Given the description of an element on the screen output the (x, y) to click on. 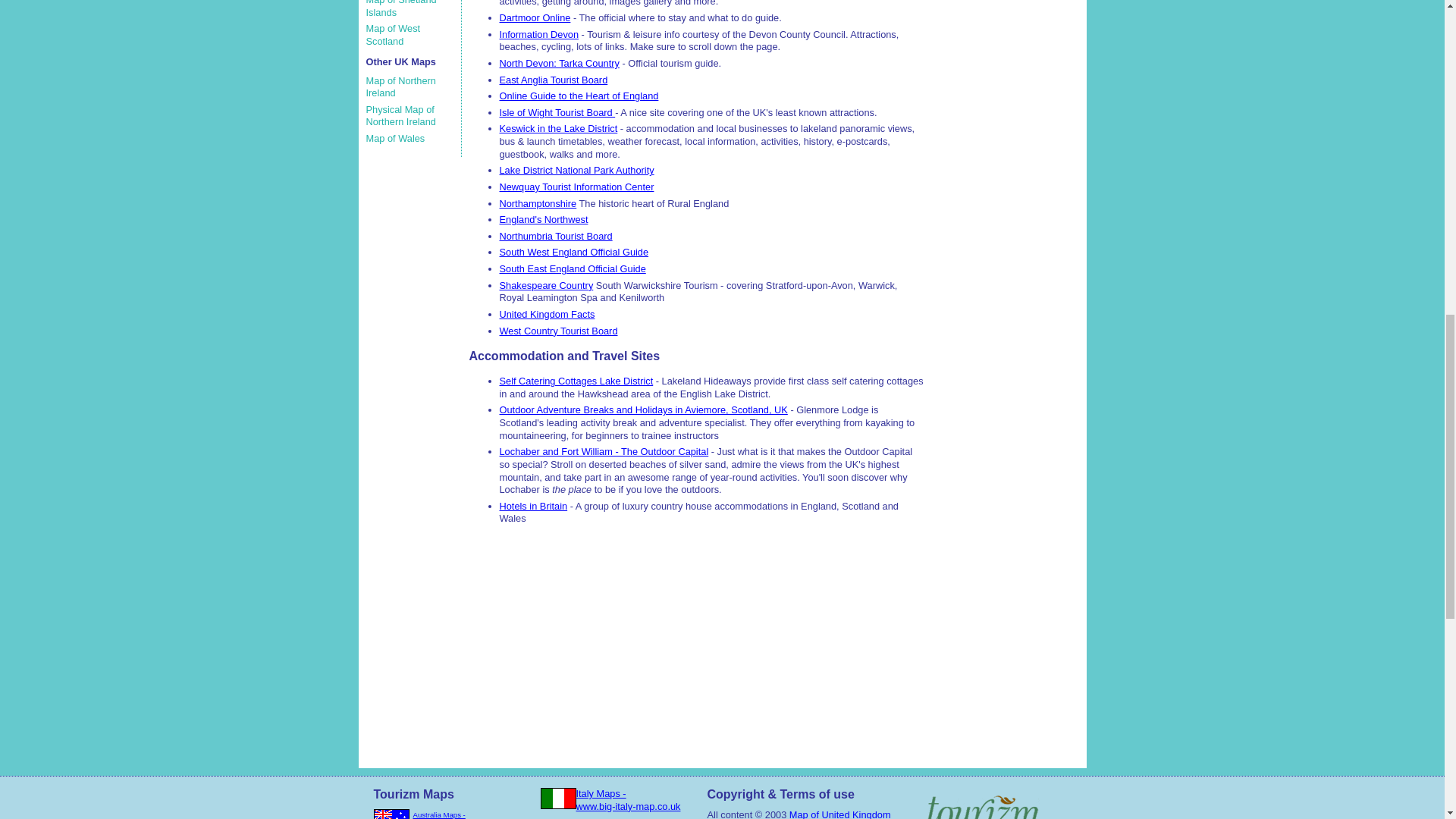
Keswick in the Lake District (558, 128)
Lake District National Park Authority (576, 170)
Isle of Wight Tourist Board (556, 112)
Map of Northern Ireland (400, 86)
North Devon: Tarka Country (558, 62)
Newquay Tourist Information Center (576, 186)
Map of West Scotland (392, 34)
Map of Wales (395, 138)
Information Devon (538, 34)
Northamptonshire (537, 203)
